Given the description of an element on the screen output the (x, y) to click on. 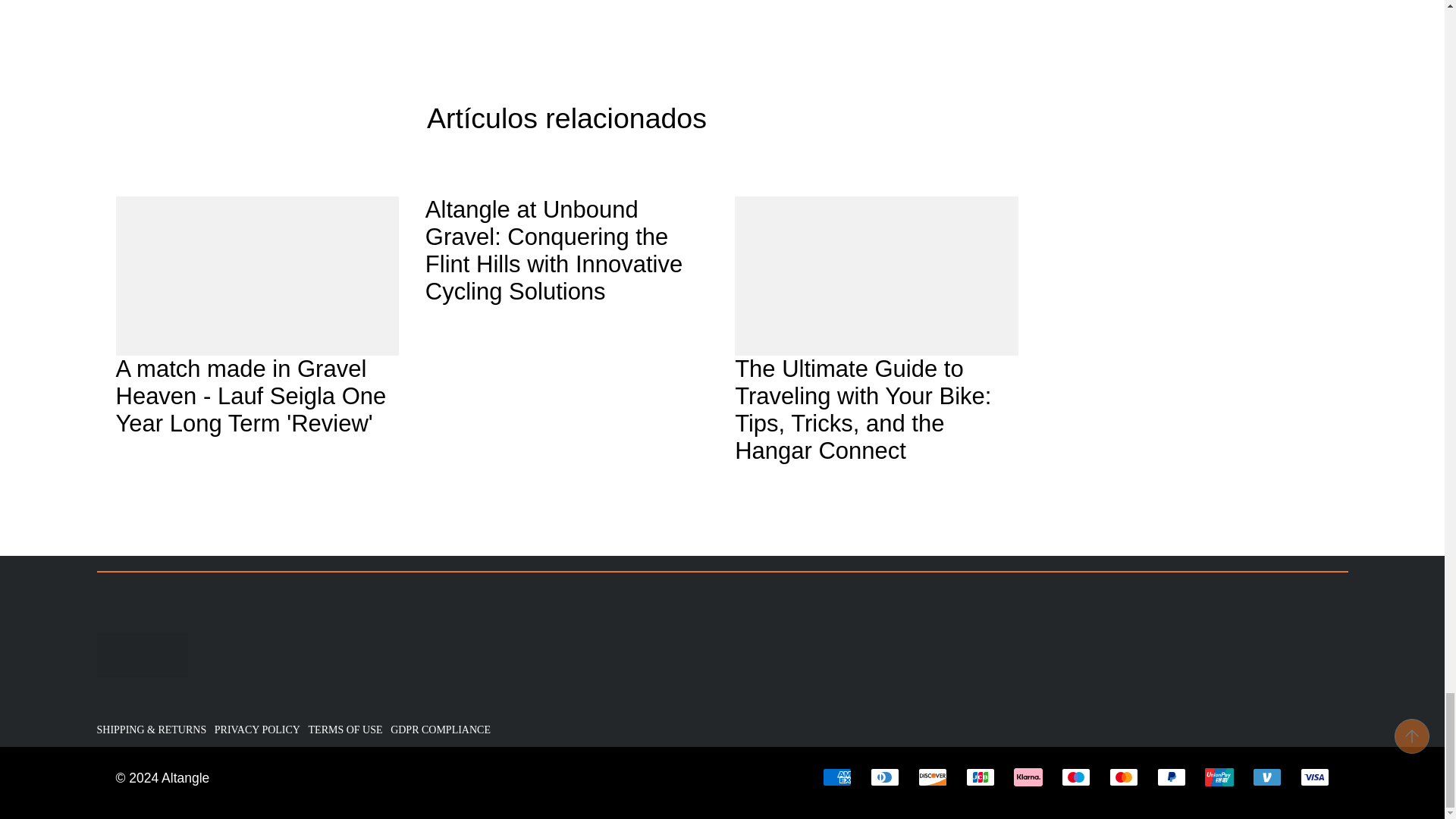
GDPR Compilance (442, 729)
Privacy Policy (259, 729)
Terms of use (347, 729)
